Given the description of an element on the screen output the (x, y) to click on. 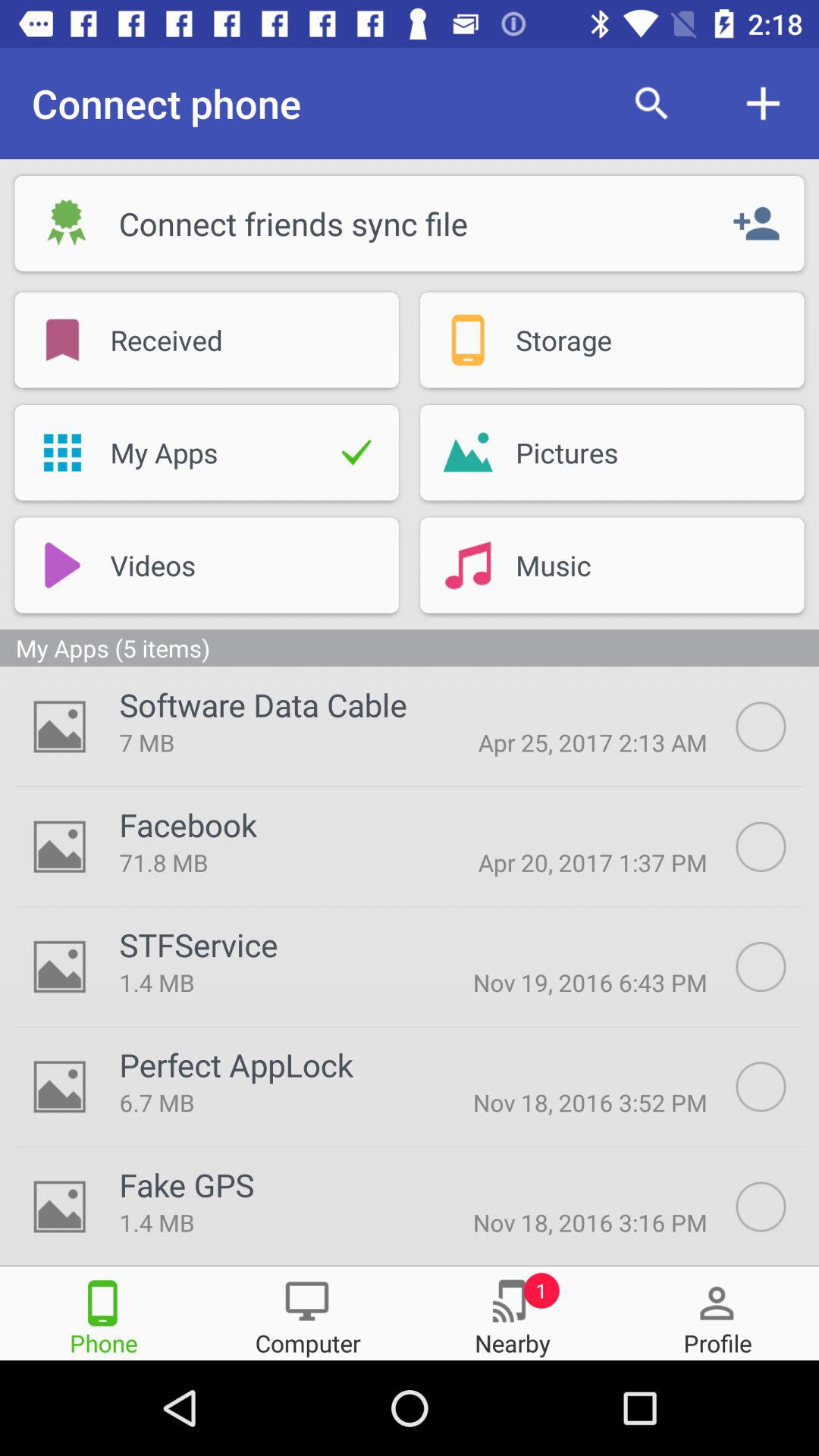
select option button (777, 1086)
